Given the description of an element on the screen output the (x, y) to click on. 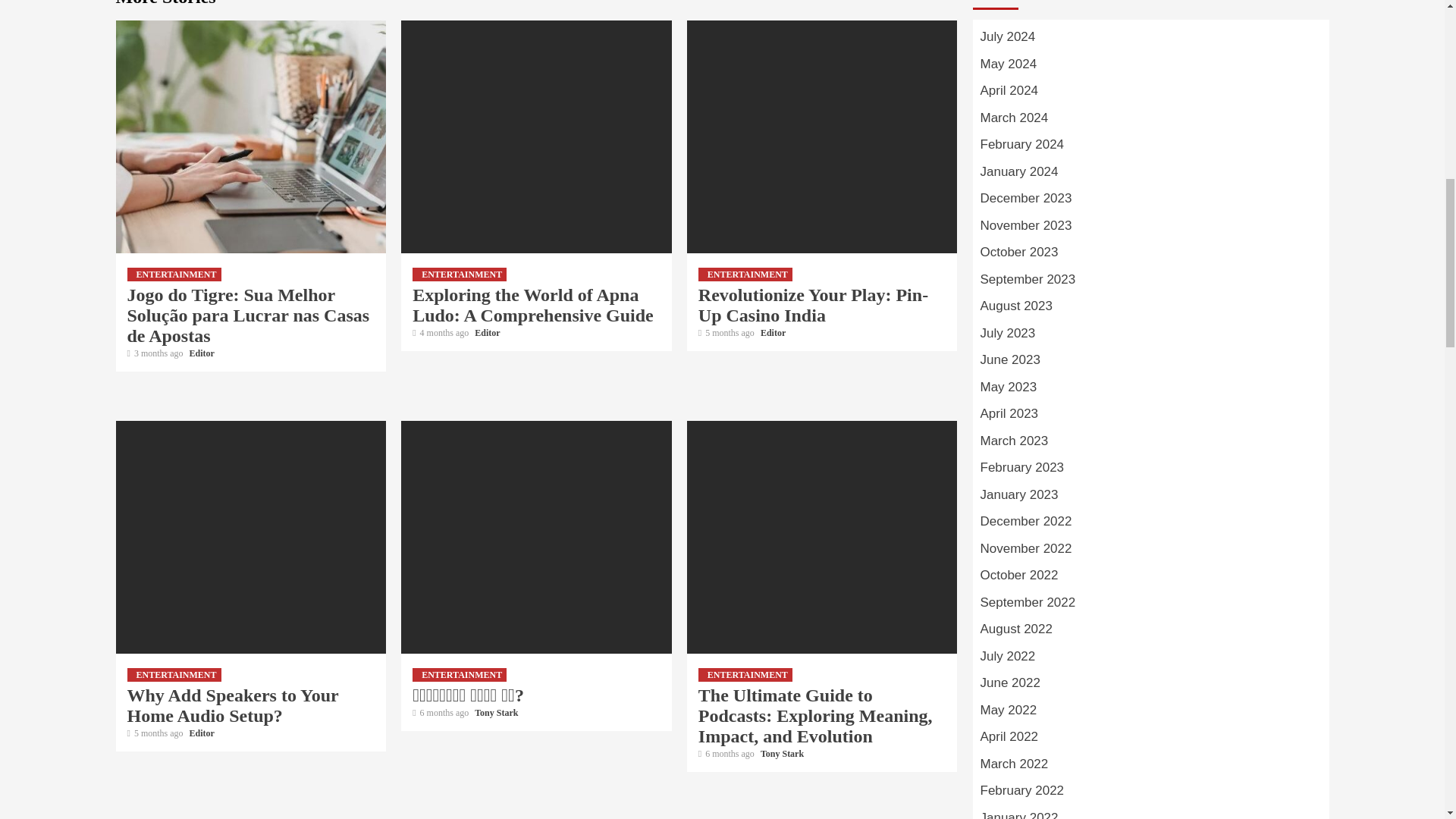
ENTERTAINMENT (174, 274)
ENTERTAINMENT (745, 274)
Editor (486, 332)
Editor (201, 353)
ENTERTAINMENT (459, 274)
Exploring the World of Apna Ludo: A Comprehensive Guide (532, 305)
